Given the description of an element on the screen output the (x, y) to click on. 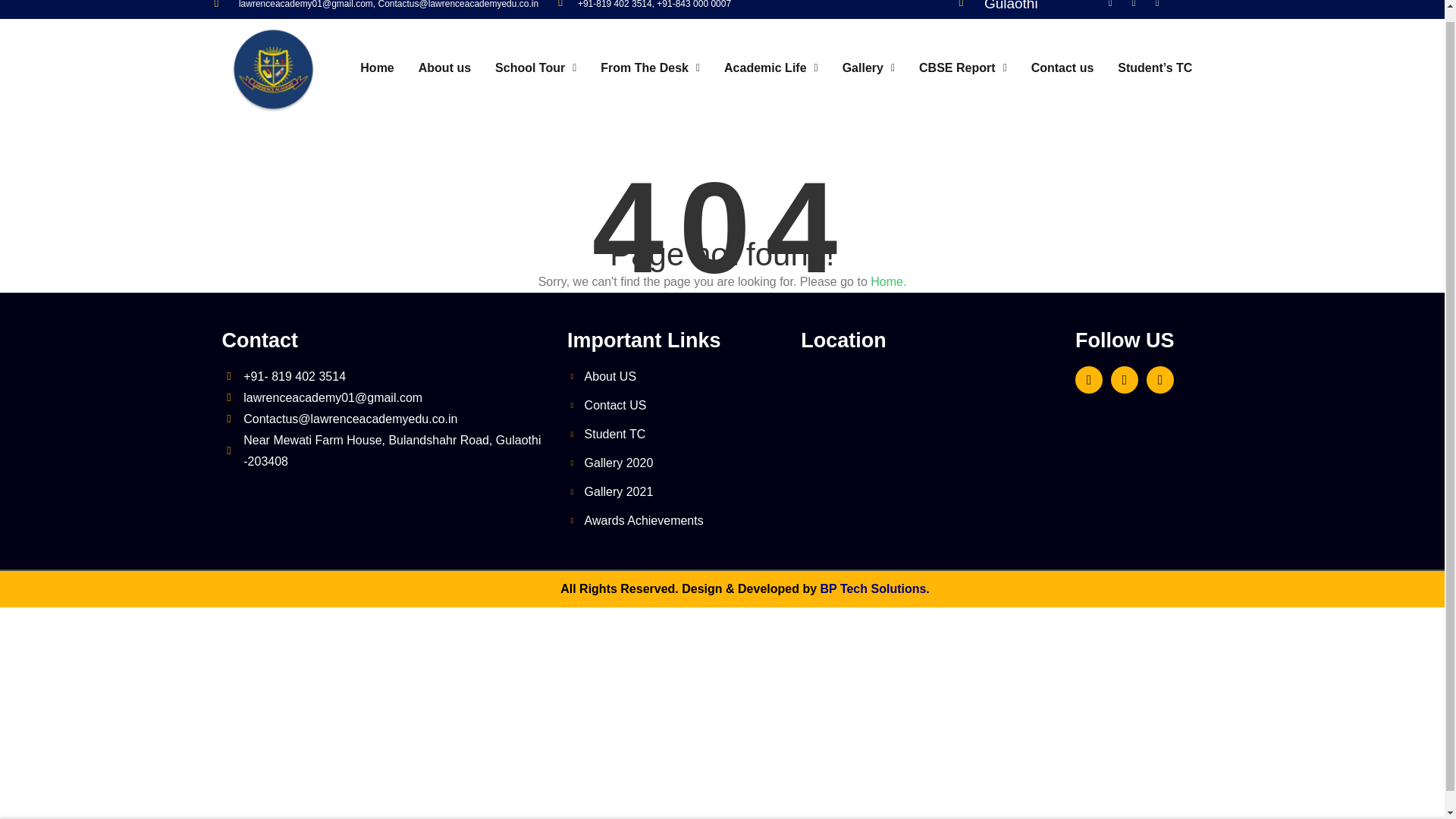
Academic Life (770, 68)
Home (376, 68)
School Tour (535, 68)
Gallery (868, 68)
Gulaothi (1011, 5)
About us (444, 68)
From The Desk (649, 68)
CBSE Report (963, 68)
Lawrence academy, Gulaothi (929, 436)
